Given the description of an element on the screen output the (x, y) to click on. 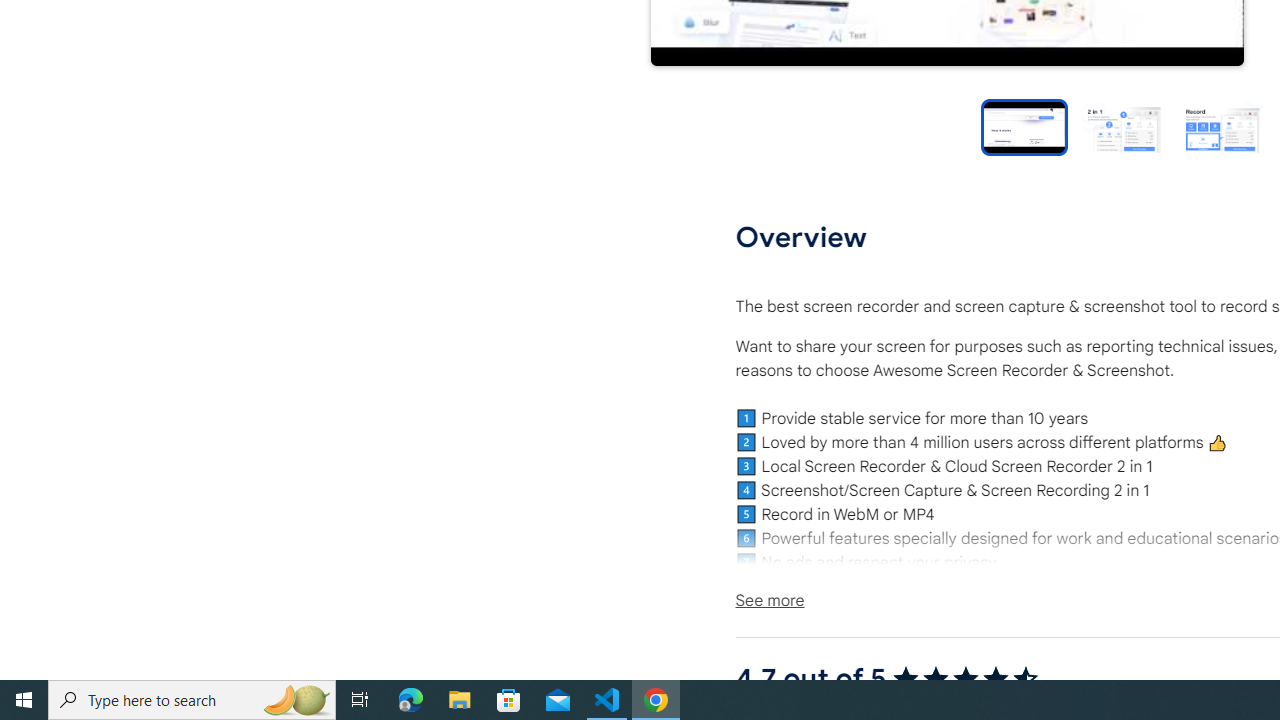
Start (24, 699)
File Explorer (460, 699)
Type here to search (191, 699)
4.7 out of 5 stars (964, 678)
Preview slide 2 (1122, 126)
Preview slide 1 (1024, 126)
Visual Studio Code - 1 running window (607, 699)
Microsoft Edge (411, 699)
Search highlights icon opens search home window (295, 699)
Preview slide 3 (1222, 126)
Google Chrome - 1 running window (656, 699)
Microsoft Store (509, 699)
Item video thumbnail (1024, 126)
Task View (359, 699)
